Given the description of an element on the screen output the (x, y) to click on. 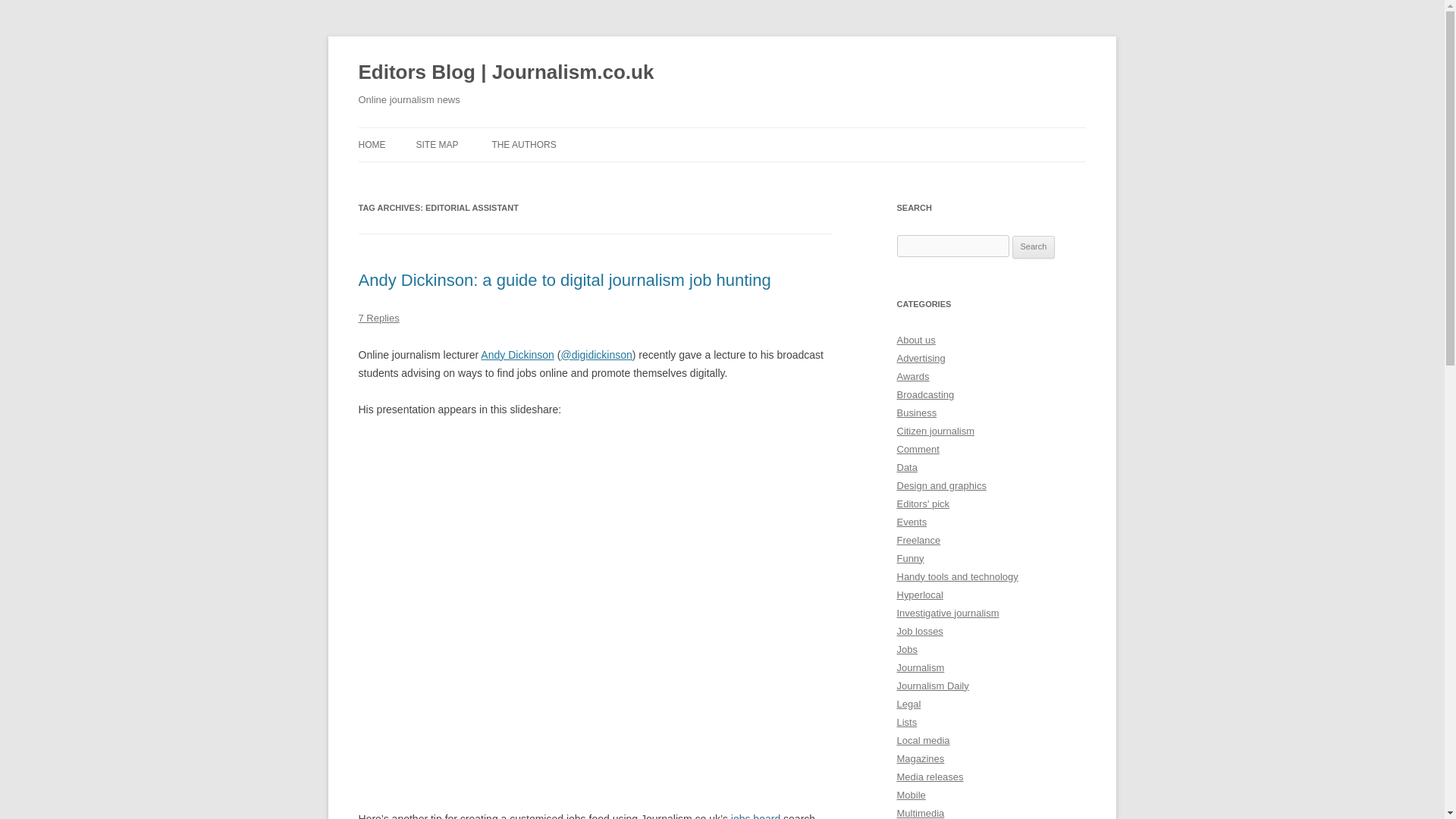
Journalism jobs on Journalism.co.uk (755, 816)
THE AUTHORS (524, 144)
jobs board (755, 816)
7 Replies (378, 317)
Andy Dickinson (517, 354)
Andy Dickinson on Twitter (595, 354)
Andy Dickinson (517, 354)
Search (1033, 246)
SITE MAP (436, 144)
Andy Dickinson: a guide to digital journalism job hunting (564, 280)
